Given the description of an element on the screen output the (x, y) to click on. 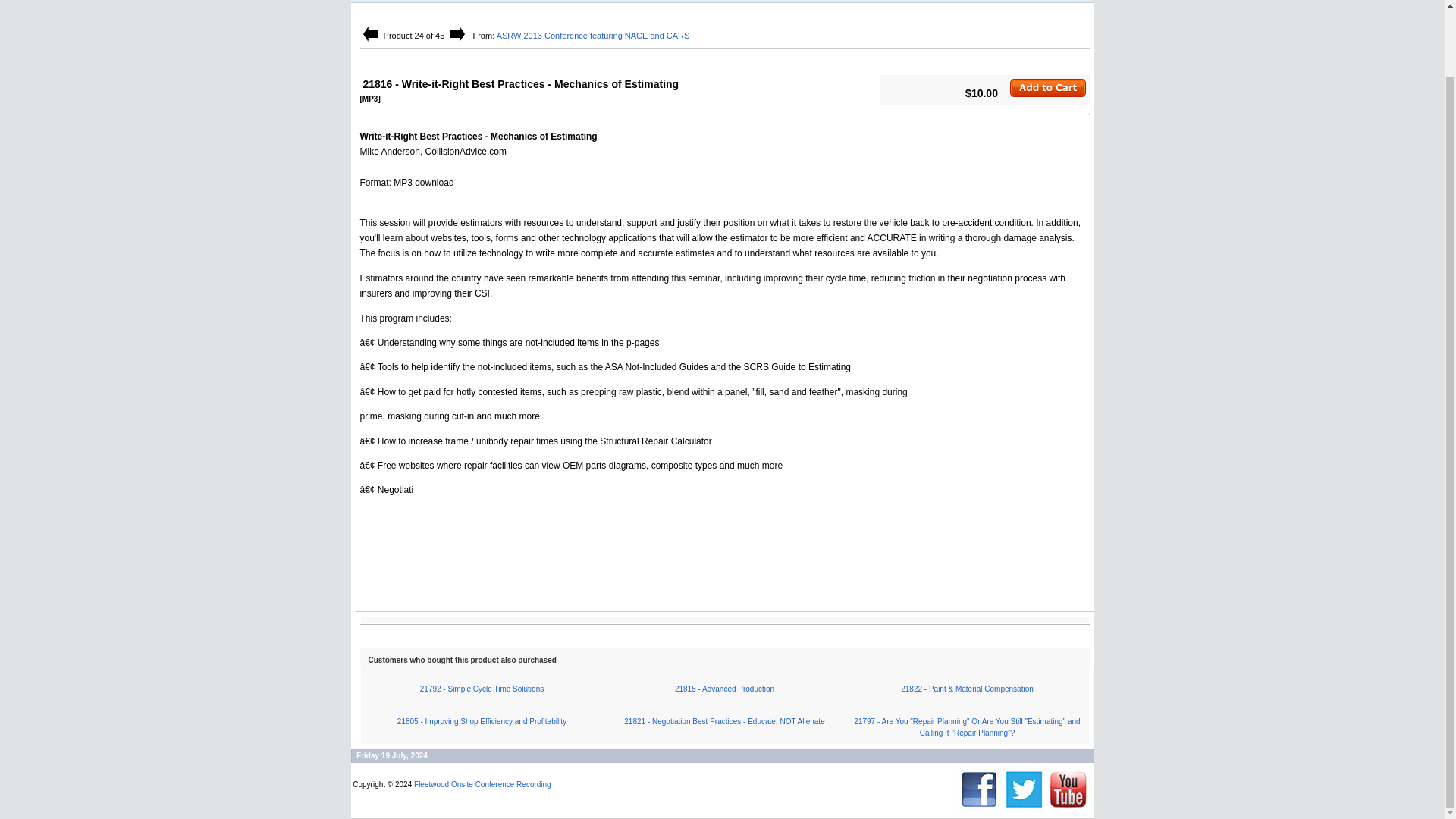
Fleetwood Onsite Conference Recording (513, 795)
 Add to Cart  (1048, 87)
21821 - Negotiation Best Practices - Educate, NOT Alienate (724, 721)
 Next Product  (456, 33)
21805 - Improving Shop Efficiency and Profitability (481, 721)
21792 - Simple Cycle Time Solutions (481, 688)
21815 - Advanced Production (724, 688)
 Previous Product  (369, 33)
ASRW 2013 Conference featuring NACE and CARS (593, 35)
